Given the description of an element on the screen output the (x, y) to click on. 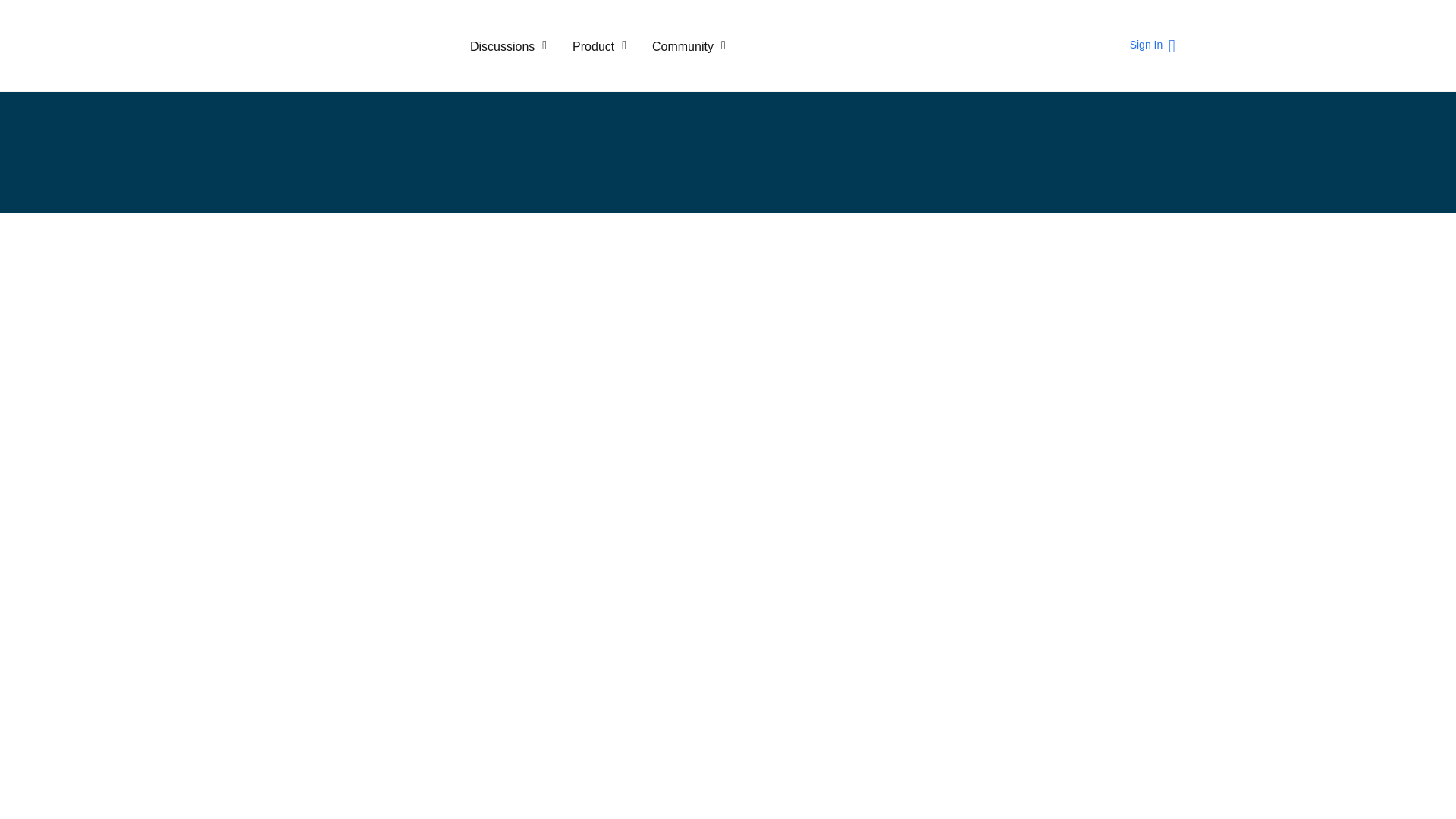
Product (598, 45)
ServiceTitan Community (363, 45)
Discussions (507, 45)
